Given the description of an element on the screen output the (x, y) to click on. 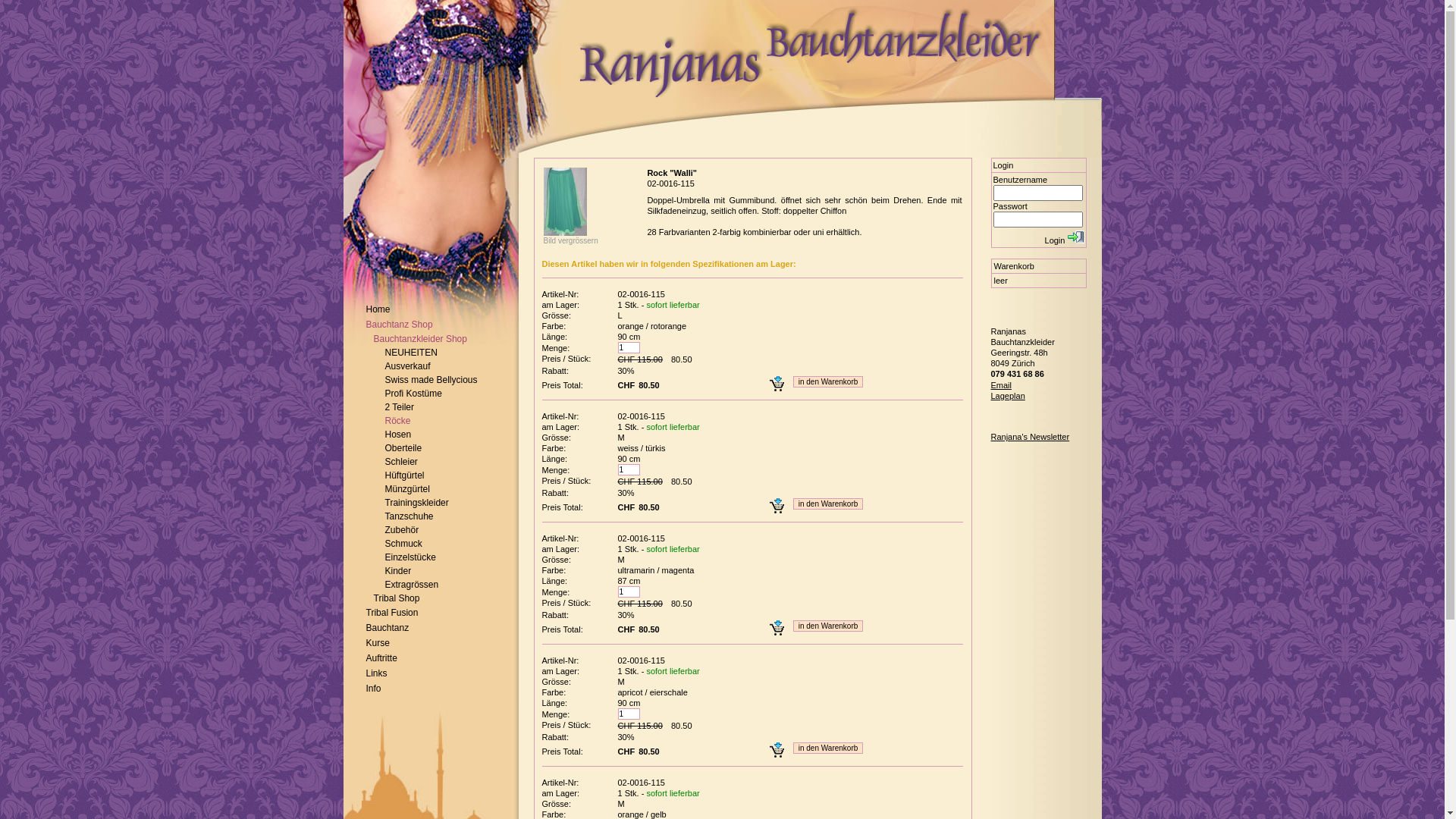
leer Element type: text (1038, 280)
Tanzschuhe Element type: text (409, 516)
in den Warenkorb Element type: text (828, 503)
in den Warenkorb Element type: text (828, 381)
Bauchtanzkleider Shop Element type: text (419, 338)
Home Element type: text (377, 309)
Warenkorb Element type: text (1038, 266)
NEUHEITEN Element type: text (411, 352)
Email Element type: text (1000, 384)
Swiss made Bellycious Element type: text (431, 379)
Warenkorb Element type: text (1013, 265)
Trainingskleider Element type: text (416, 502)
Lageplan Element type: text (1007, 395)
in den Warenkorb Element type: text (828, 747)
Ranjana's Newsletter Element type: text (1029, 436)
Links Element type: text (375, 673)
Bauchtanz Shop Element type: text (398, 324)
Schleier Element type: text (401, 461)
2 Teiler Element type: text (399, 406)
Tribal Fusion Element type: text (391, 612)
Info Element type: text (372, 688)
Hosen Element type: text (398, 434)
Kurse Element type: text (377, 642)
Schmuck Element type: text (403, 543)
Oberteile Element type: text (403, 447)
Login Element type: text (1038, 165)
Tribal Shop Element type: text (396, 598)
Kinder Element type: text (398, 570)
Ausverkauf Element type: text (407, 365)
Login Element type: hover (1075, 236)
Bauchtanz Element type: text (386, 627)
in den Warenkorb Element type: text (828, 625)
Auftritte Element type: text (380, 657)
